Given the description of an element on the screen output the (x, y) to click on. 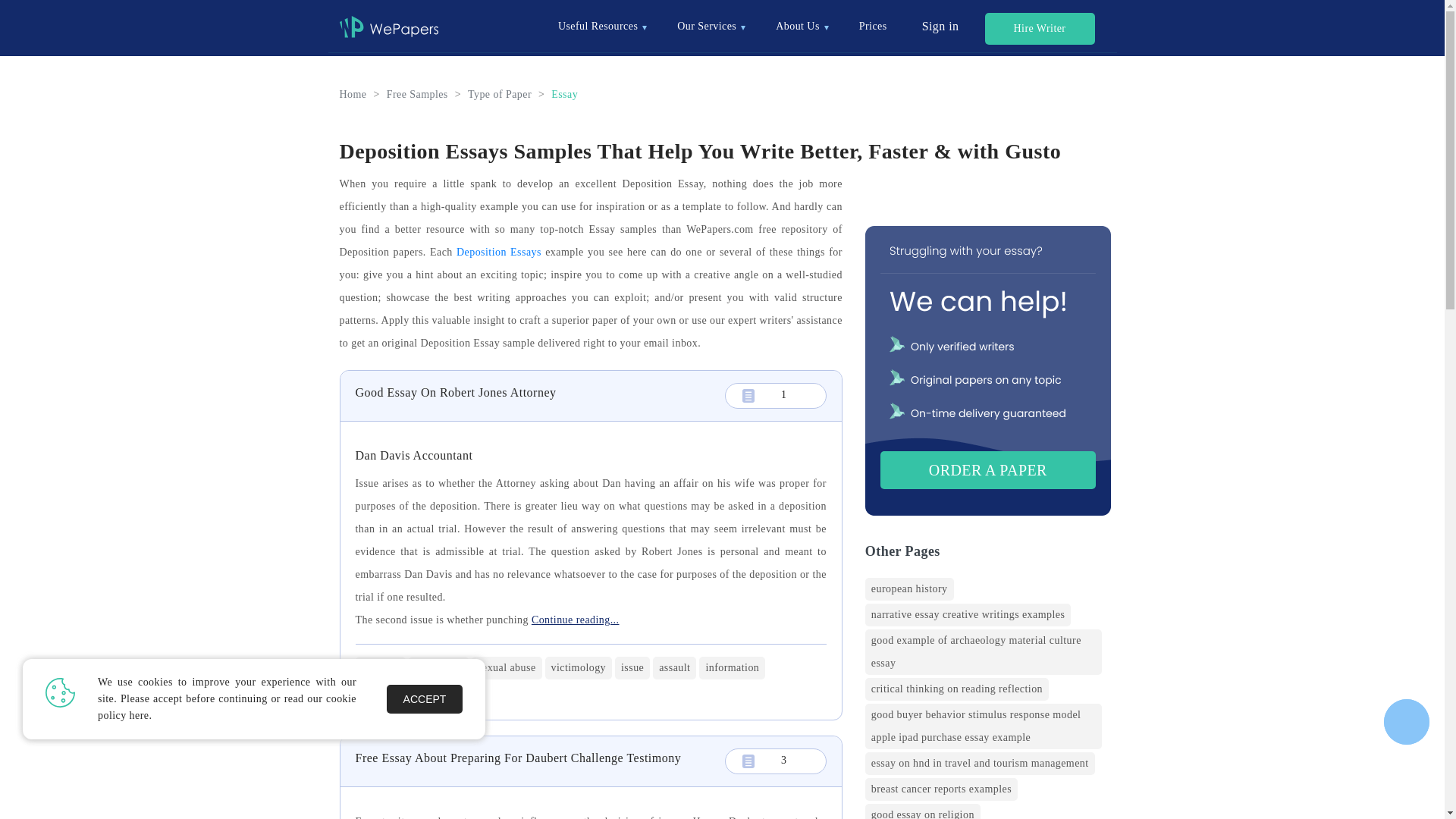
Home (352, 94)
Free Samples (417, 94)
Essay (564, 94)
Type of Paper  (499, 94)
